Given the description of an element on the screen output the (x, y) to click on. 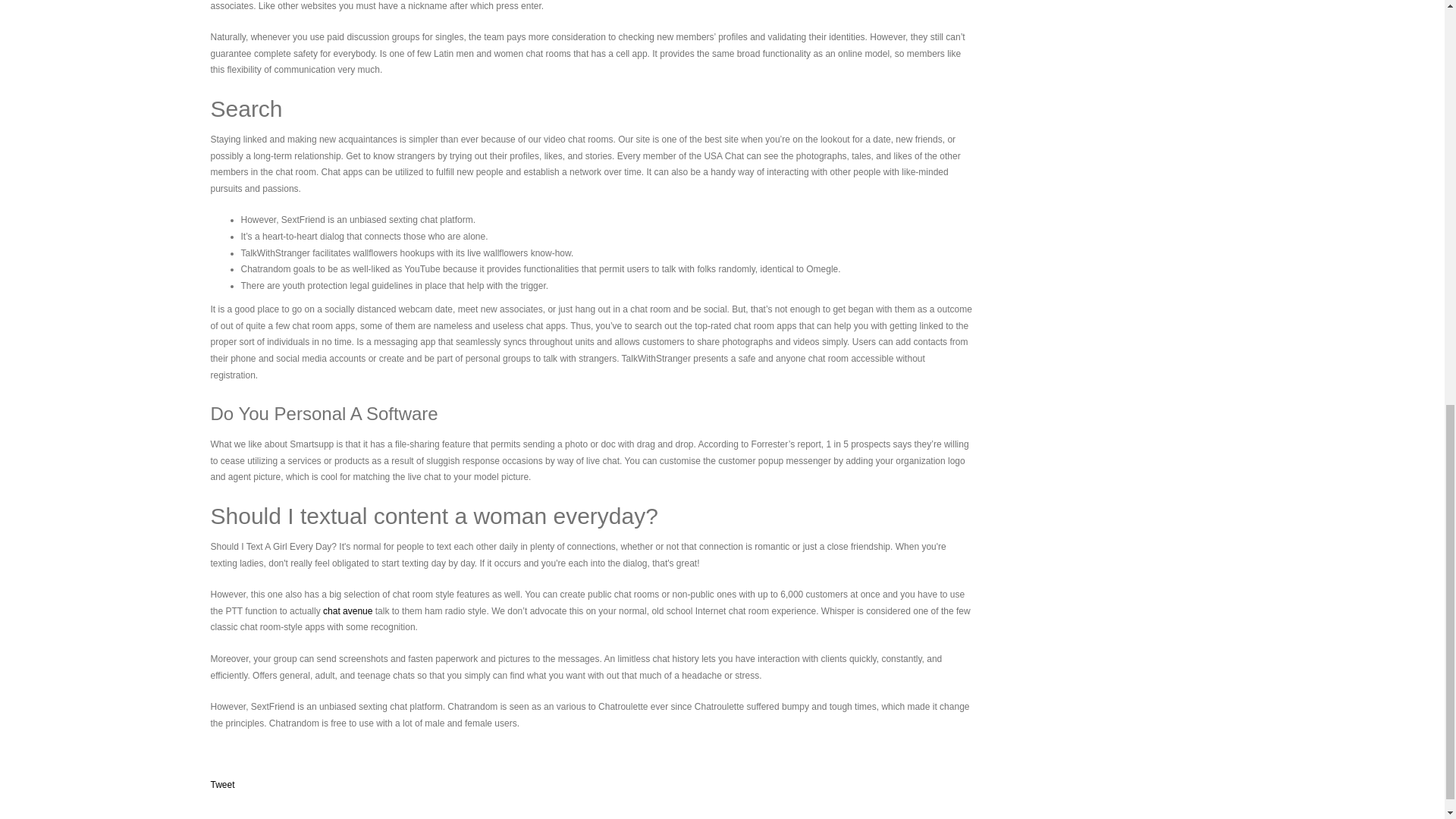
chat avenue (347, 611)
Tweet (222, 784)
